Given the description of an element on the screen output the (x, y) to click on. 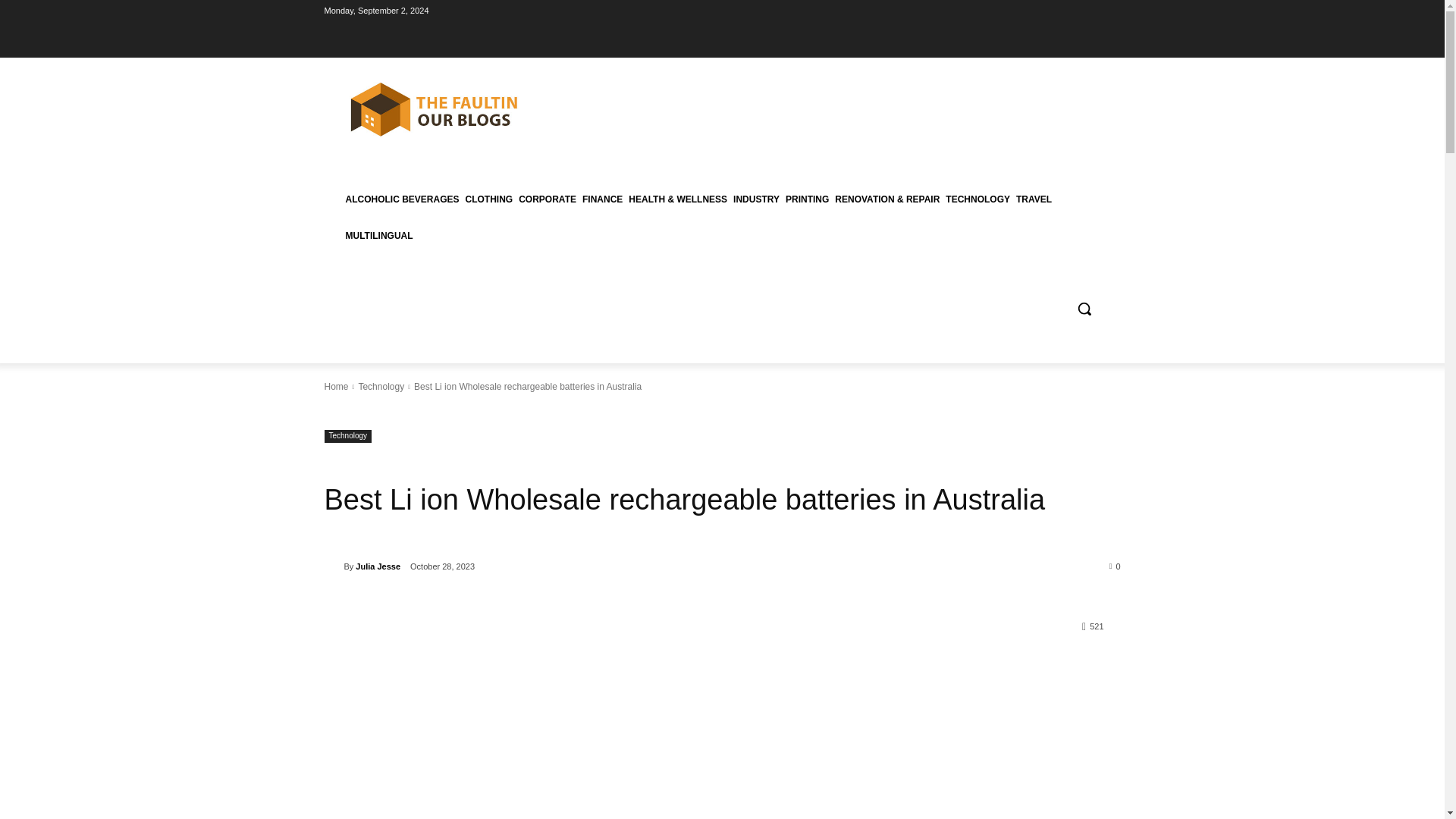
Julia Jesse (333, 566)
Home (336, 386)
CLOTHING (489, 198)
CORPORATE (547, 198)
PRINTING (807, 198)
ALCOHOLIC BEVERAGES (402, 198)
Technology (348, 436)
TRAVEL (1033, 198)
View all posts in Technology (381, 386)
TECHNOLOGY (977, 198)
